Given the description of an element on the screen output the (x, y) to click on. 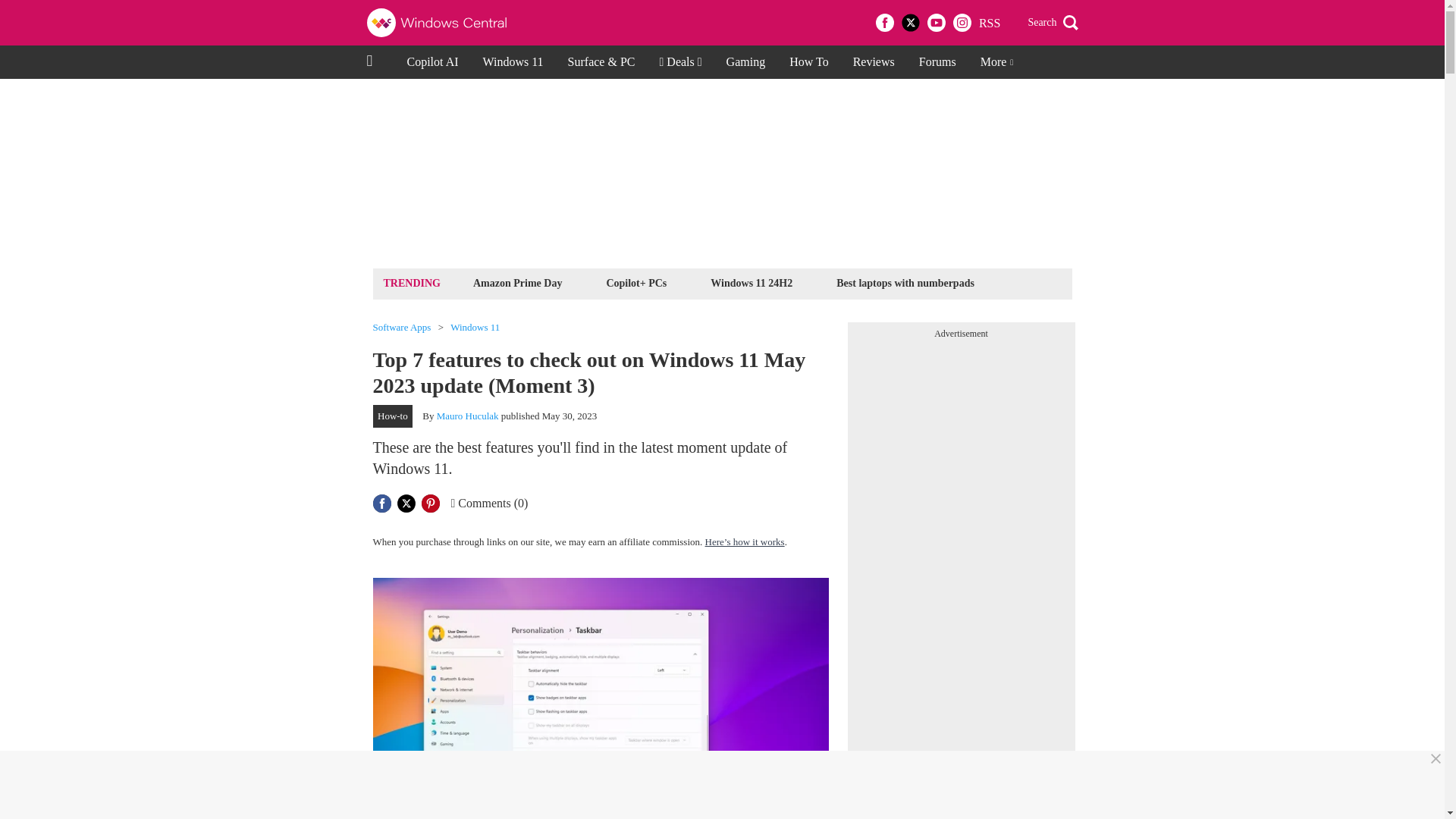
Mauro Huculak (467, 415)
Copilot AI (432, 61)
Windows 11 (513, 61)
Reviews (874, 61)
Windows 11 24H2 (750, 282)
Software Apps (401, 327)
Amazon Prime Day (517, 282)
Forums (937, 61)
How To (808, 61)
Gaming (745, 61)
How-to (392, 415)
